Given the description of an element on the screen output the (x, y) to click on. 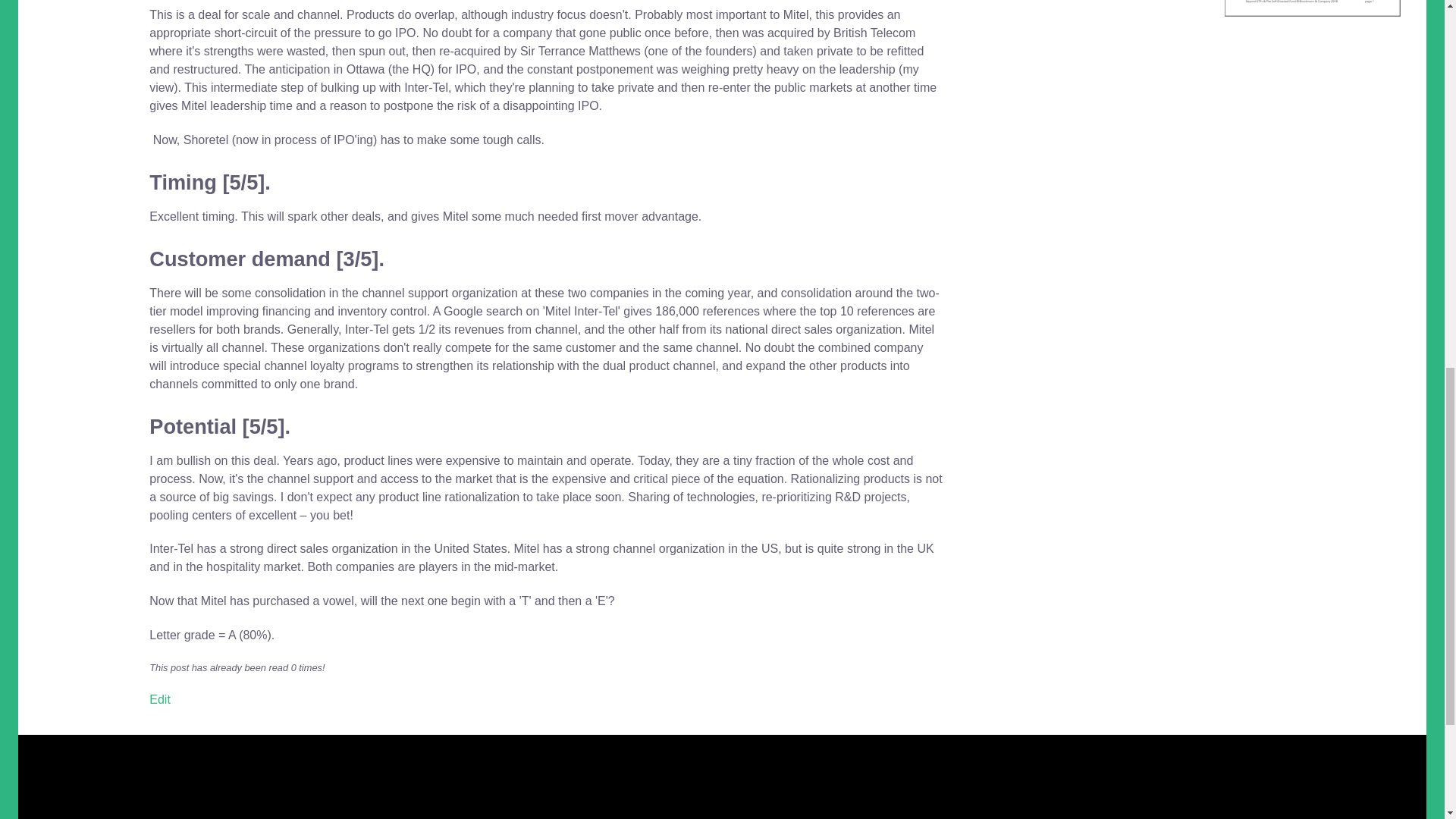
Edit (159, 698)
